Given the description of an element on the screen output the (x, y) to click on. 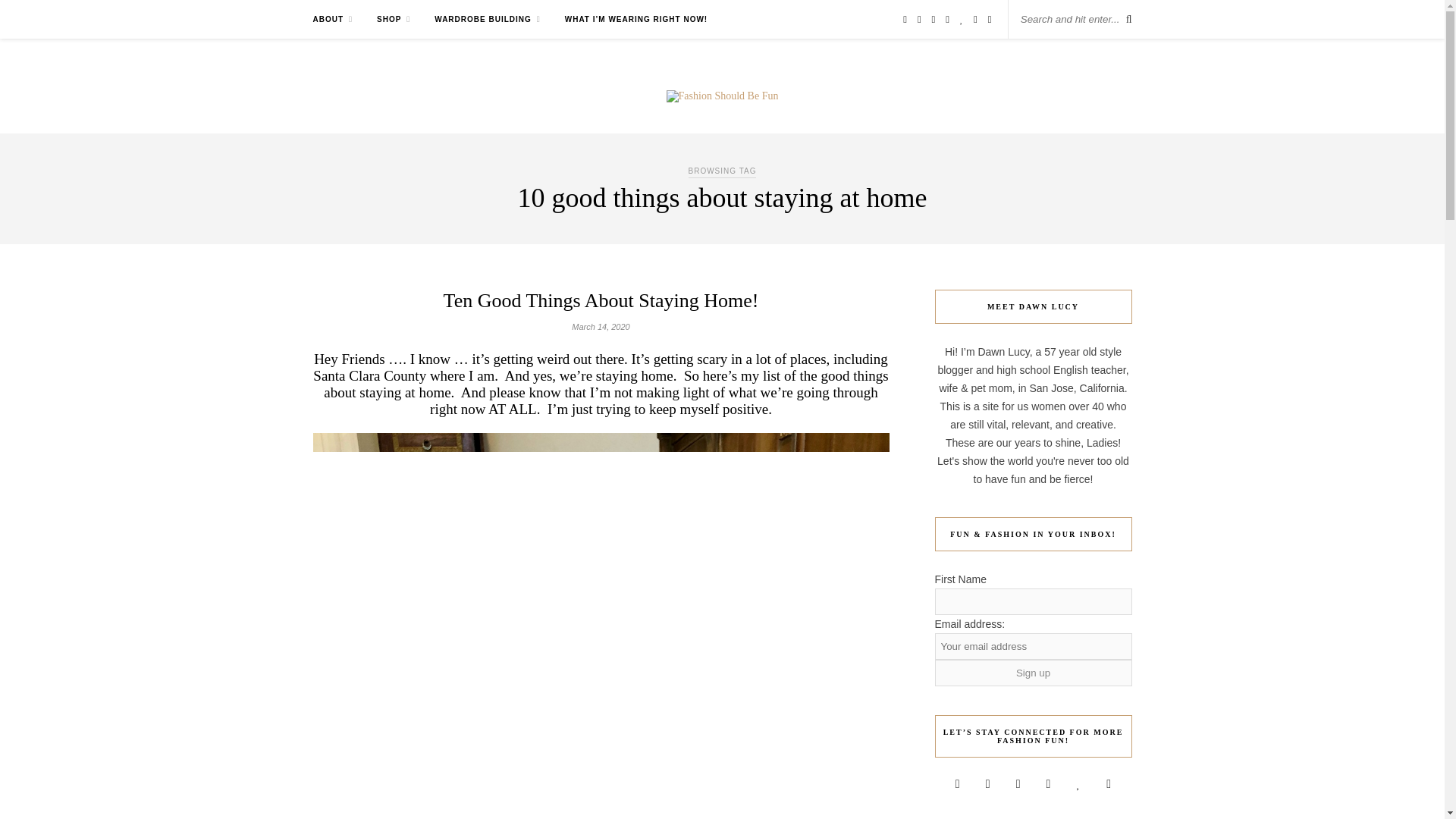
Ten Good Things About Staying Home! (601, 300)
Sign up (1032, 673)
WARDROBE BUILDING (486, 19)
Sign up (1032, 673)
ABOUT (332, 19)
